Given the description of an element on the screen output the (x, y) to click on. 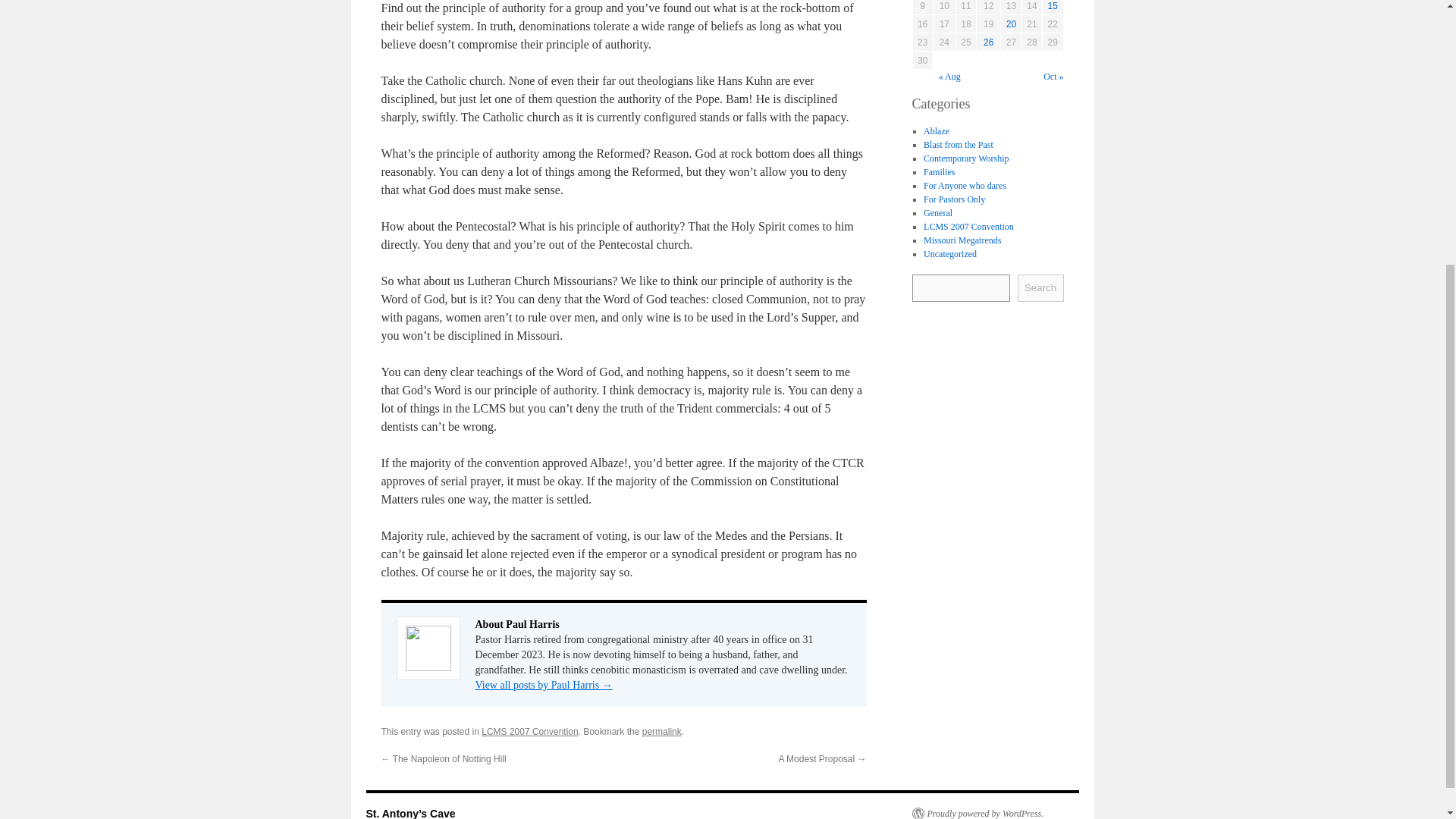
For Anyone who dares (964, 184)
Contemporary Worship (966, 157)
For Pastors Only (954, 198)
Missouri Megatrends (962, 239)
LCMS 2007 Convention (529, 731)
20 (1011, 23)
15 (1053, 5)
permalink (661, 731)
Ablaze (936, 130)
LCMS 2007 Convention (968, 225)
